Given the description of an element on the screen output the (x, y) to click on. 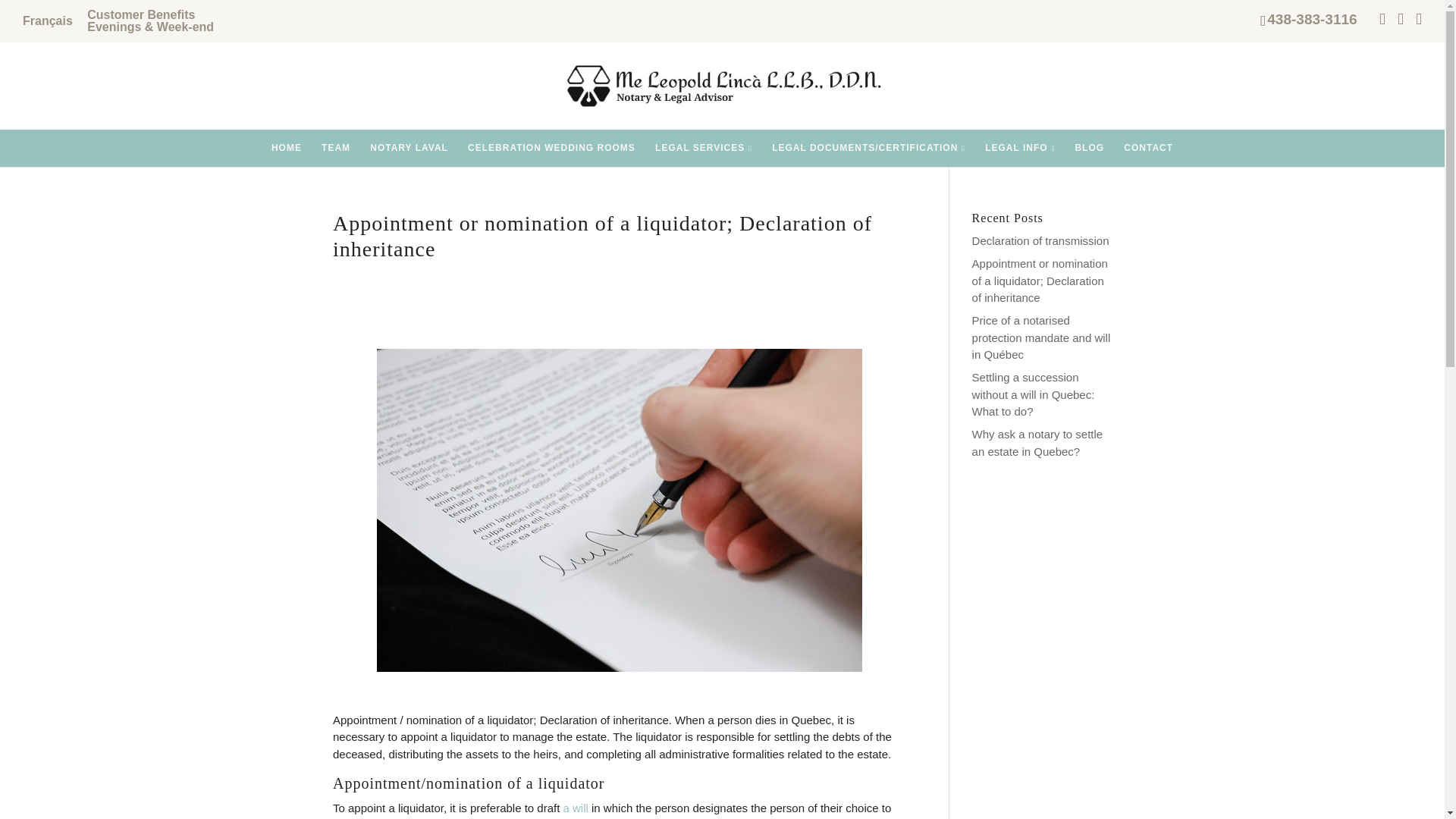
NOTARY LAVAL (408, 147)
LEGAL INFO (1019, 148)
CELEBRATION WEDDING ROOMS (550, 147)
438-383-3116 (1311, 19)
CONTACT (1148, 147)
LEGAL SERVICES (703, 148)
